Given the description of an element on the screen output the (x, y) to click on. 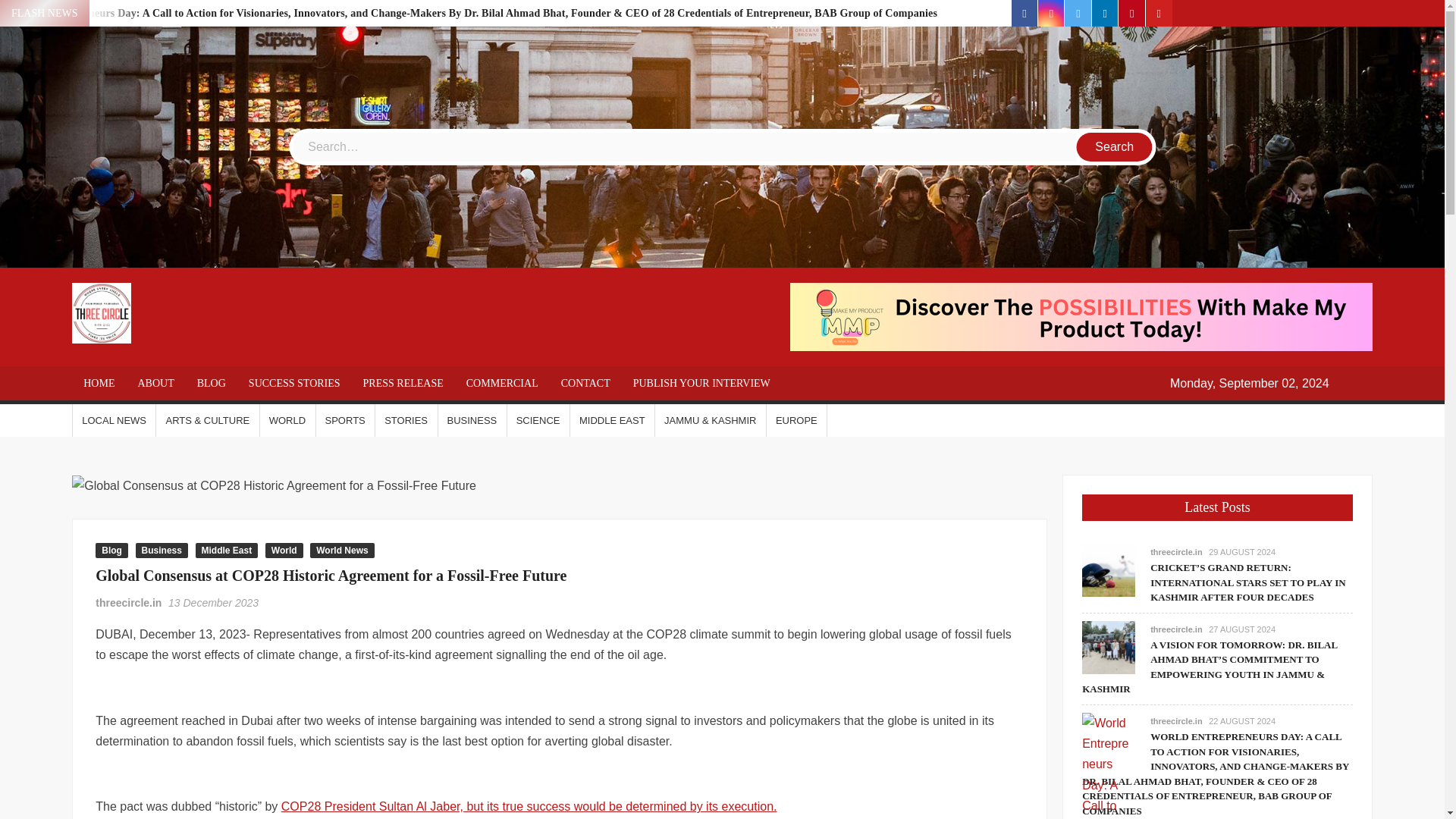
Linkedin (1105, 13)
Pinterest (1131, 13)
Instagram (1051, 13)
Facebook (1024, 13)
THREECIRCLE.IN (272, 329)
Search (1115, 146)
Youtube (1158, 13)
Search (1115, 146)
Twitter (1077, 13)
Search (1115, 146)
